Given the description of an element on the screen output the (x, y) to click on. 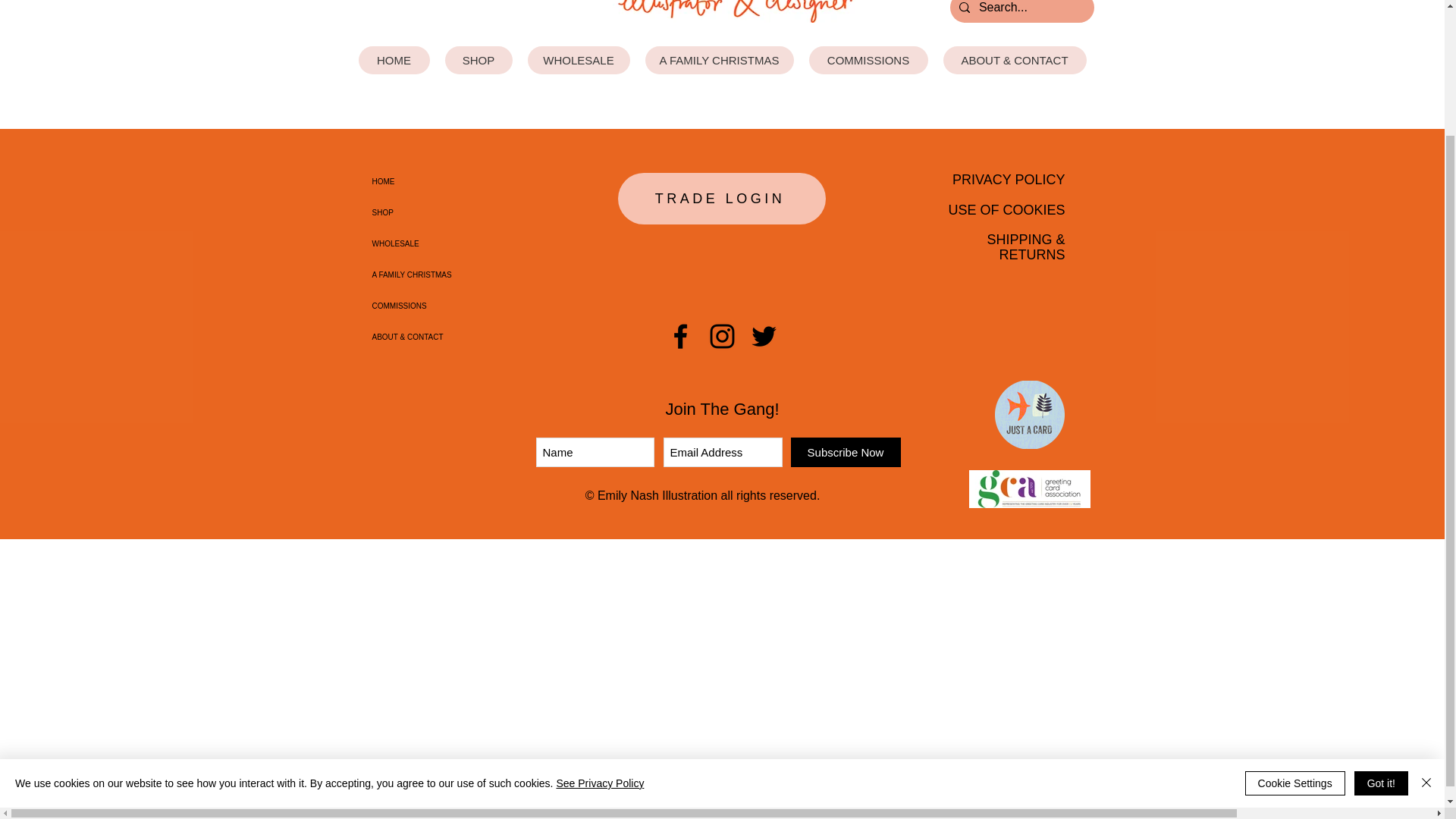
HOME (472, 181)
SHOP (478, 59)
SHOP (472, 212)
HOME (393, 59)
COMMISSIONS (867, 59)
A FAMILY CHRISTMAS (719, 59)
WHOLESALE (578, 59)
